Given the description of an element on the screen output the (x, y) to click on. 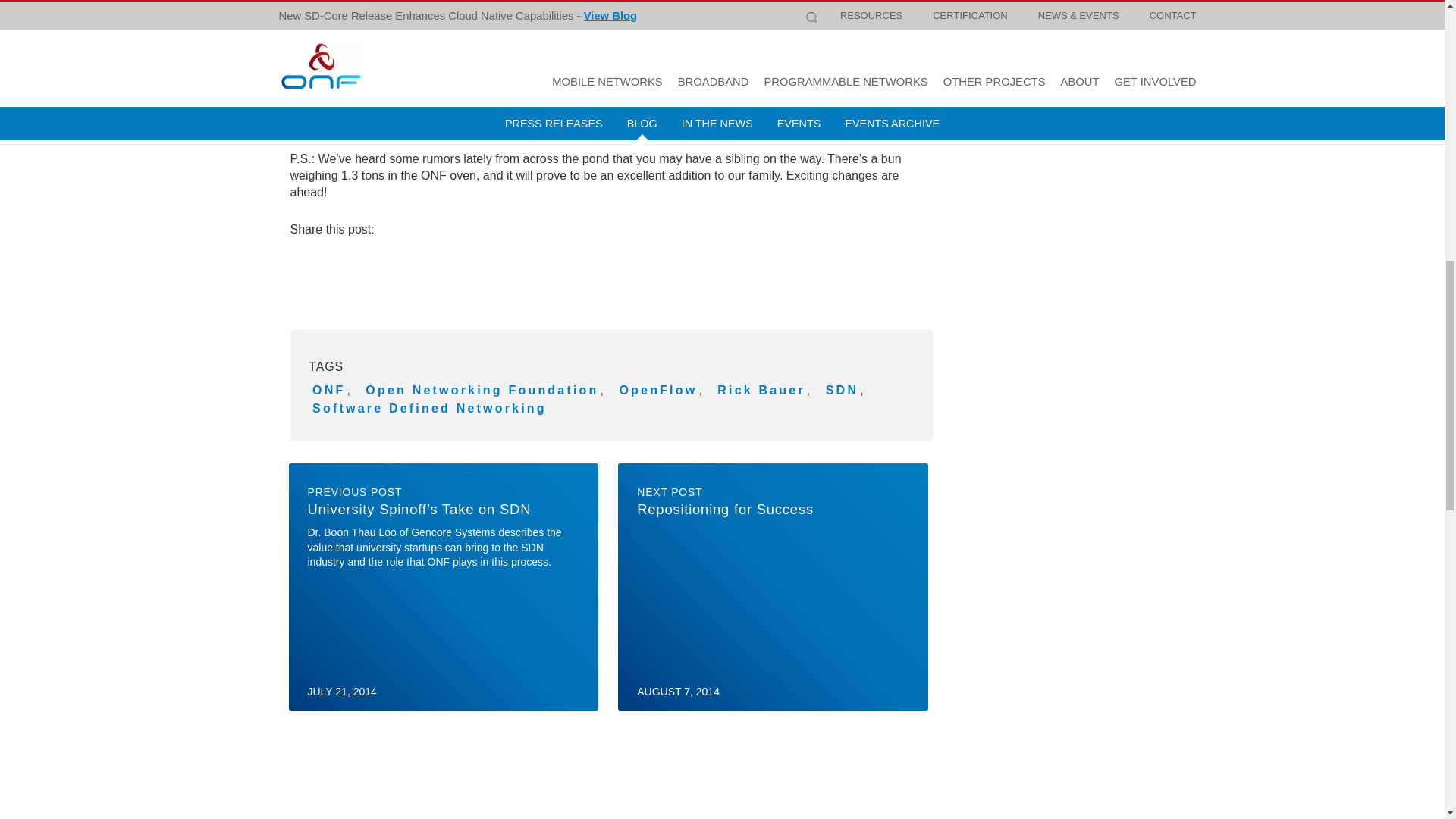
Repositioning for Success (772, 586)
